Given the description of an element on the screen output the (x, y) to click on. 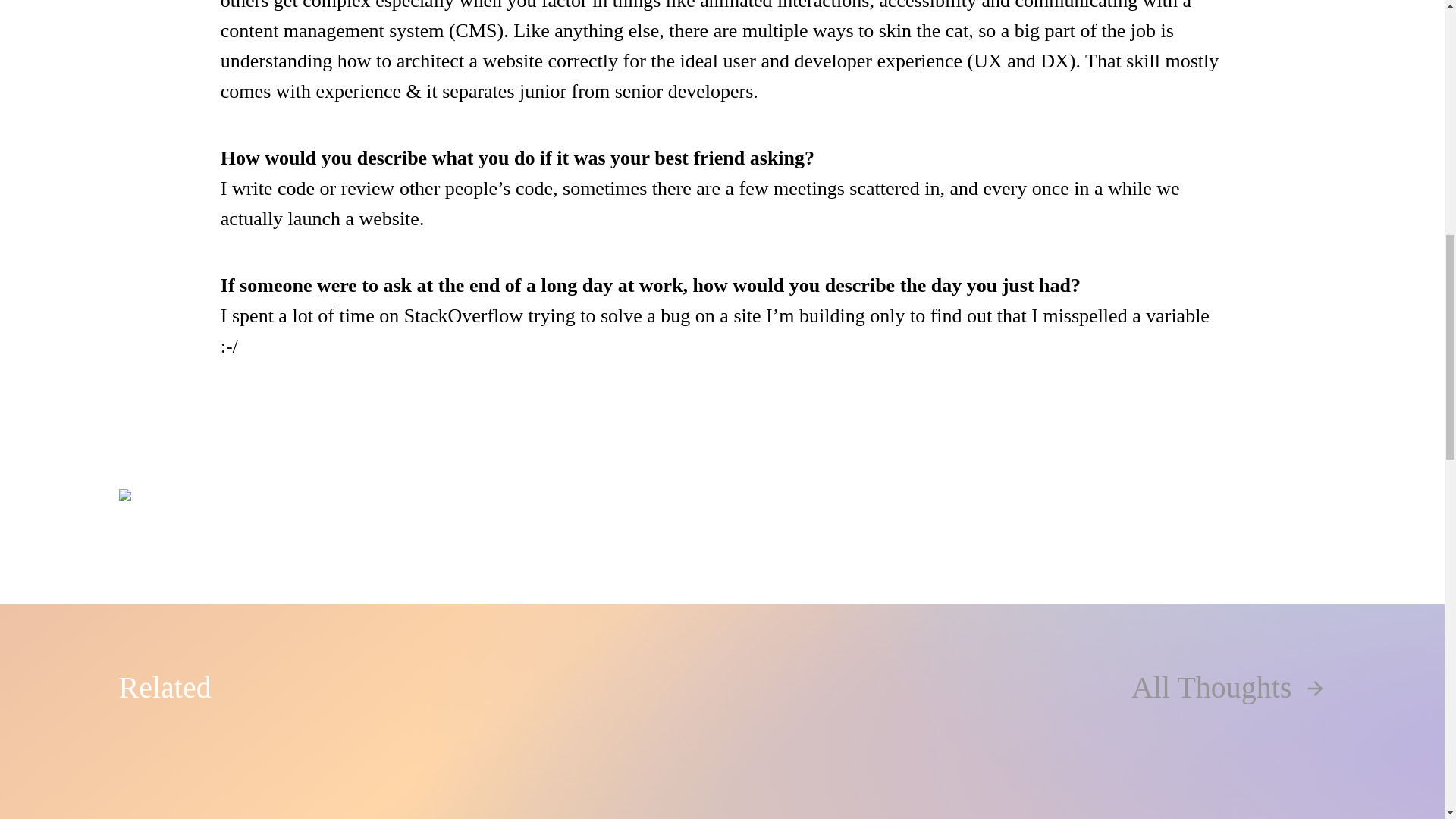
All Thoughts (1228, 687)
